Given the description of an element on the screen output the (x, y) to click on. 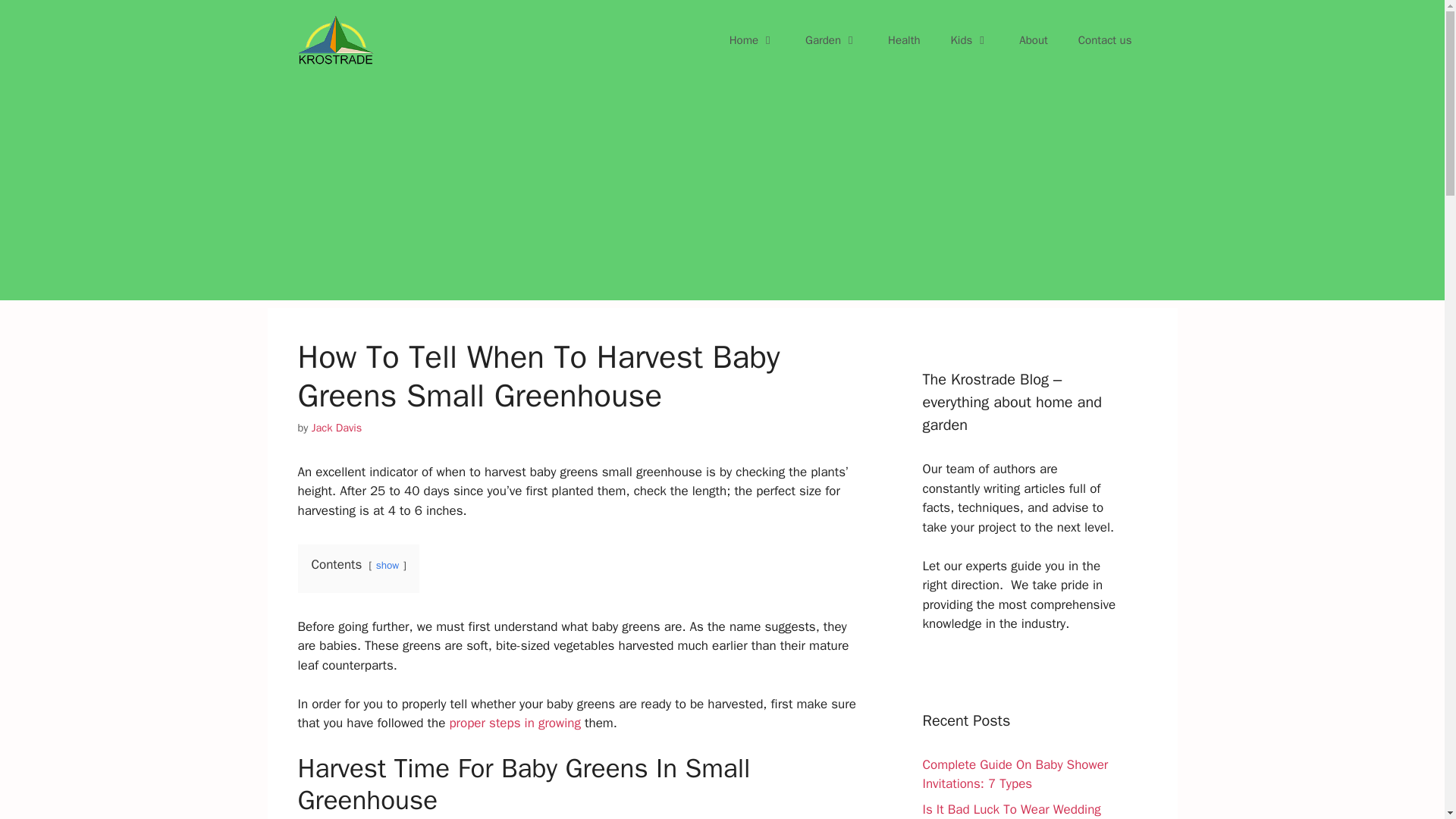
Health (904, 40)
About (1033, 40)
Garden (831, 40)
show (386, 564)
Contact us (1104, 40)
Jack Davis (336, 427)
Kids (970, 40)
View all posts by Jack Davis (336, 427)
Home (752, 40)
